Given the description of an element on the screen output the (x, y) to click on. 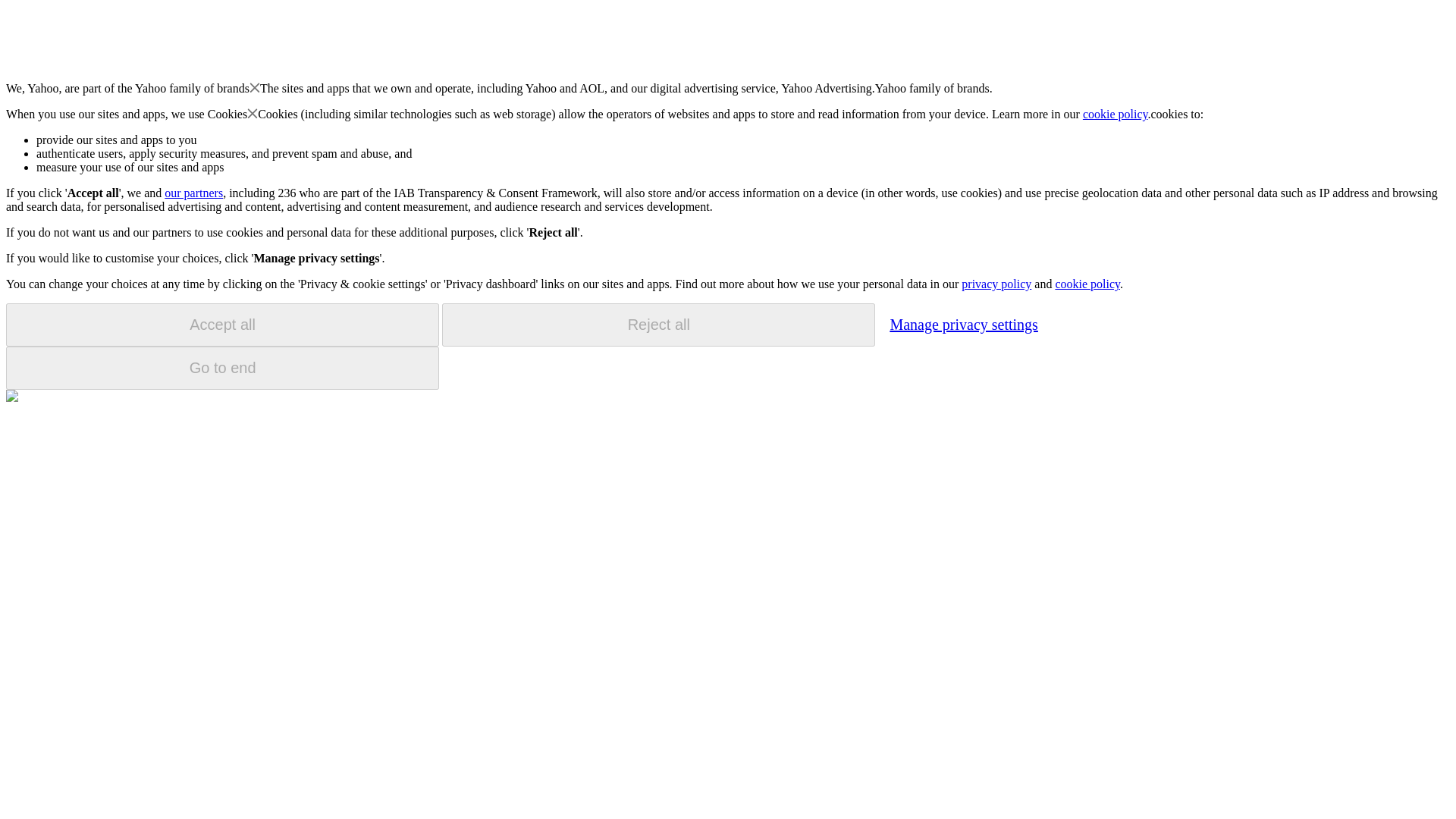
Accept all (222, 324)
our partners (193, 192)
privacy policy (995, 283)
cookie policy (1115, 113)
Manage privacy settings (963, 323)
cookie policy (1086, 283)
Go to end (222, 367)
Reject all (658, 324)
